Given the description of an element on the screen output the (x, y) to click on. 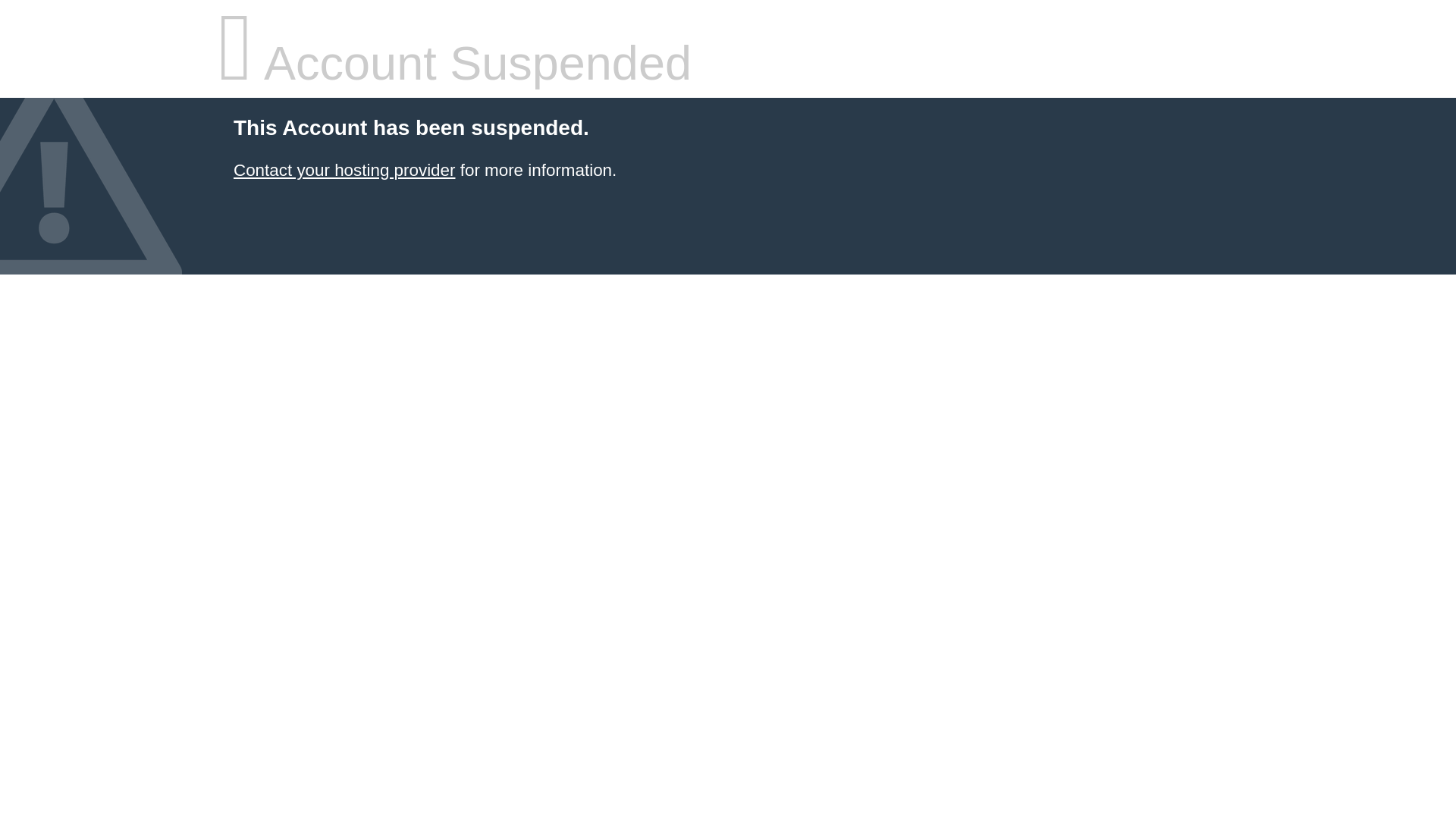
Contact your hosting provider (343, 169)
